Given the description of an element on the screen output the (x, y) to click on. 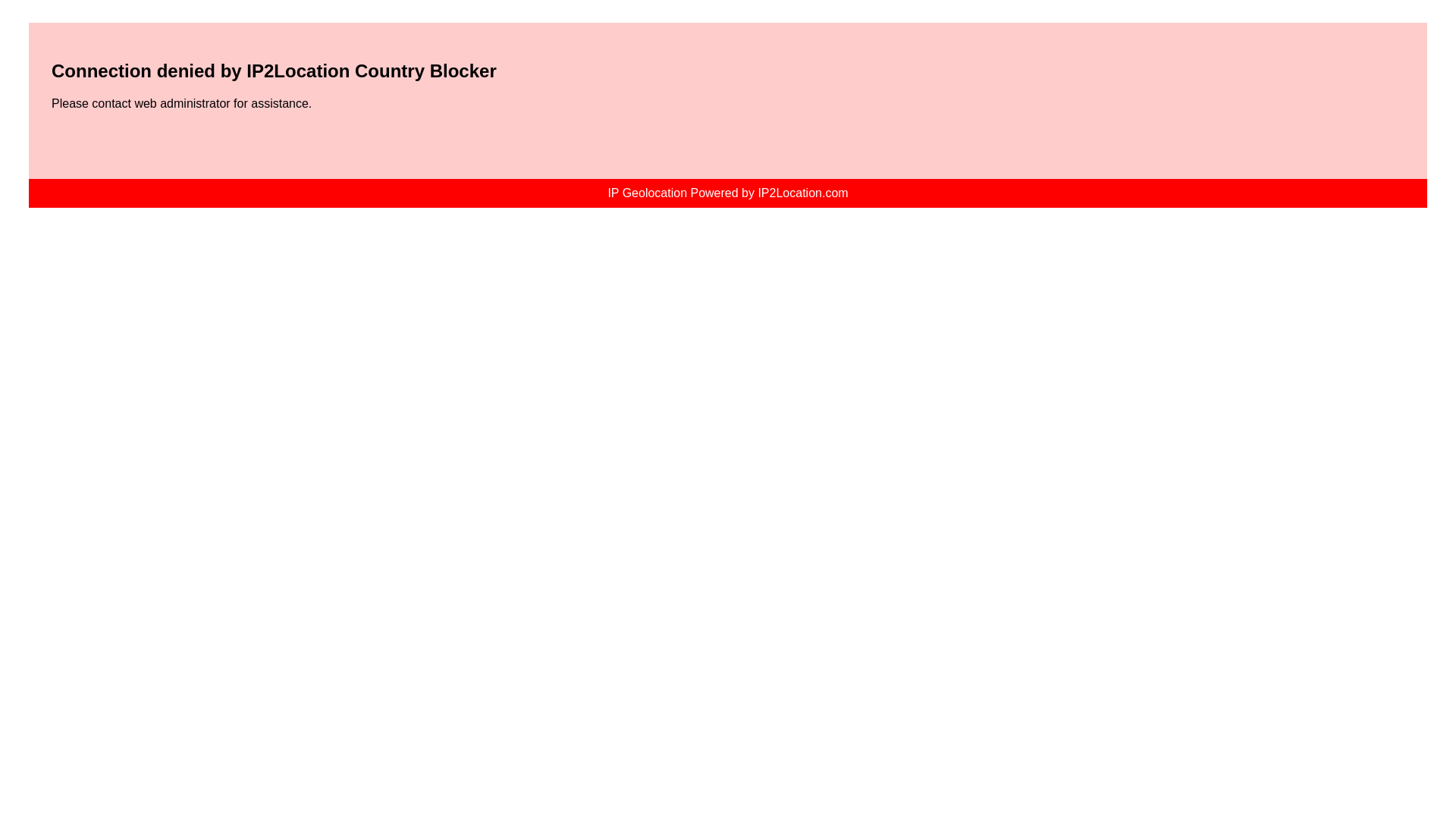
IP Geolocation Powered by IP2Location.com (727, 192)
